Given the description of an element on the screen output the (x, y) to click on. 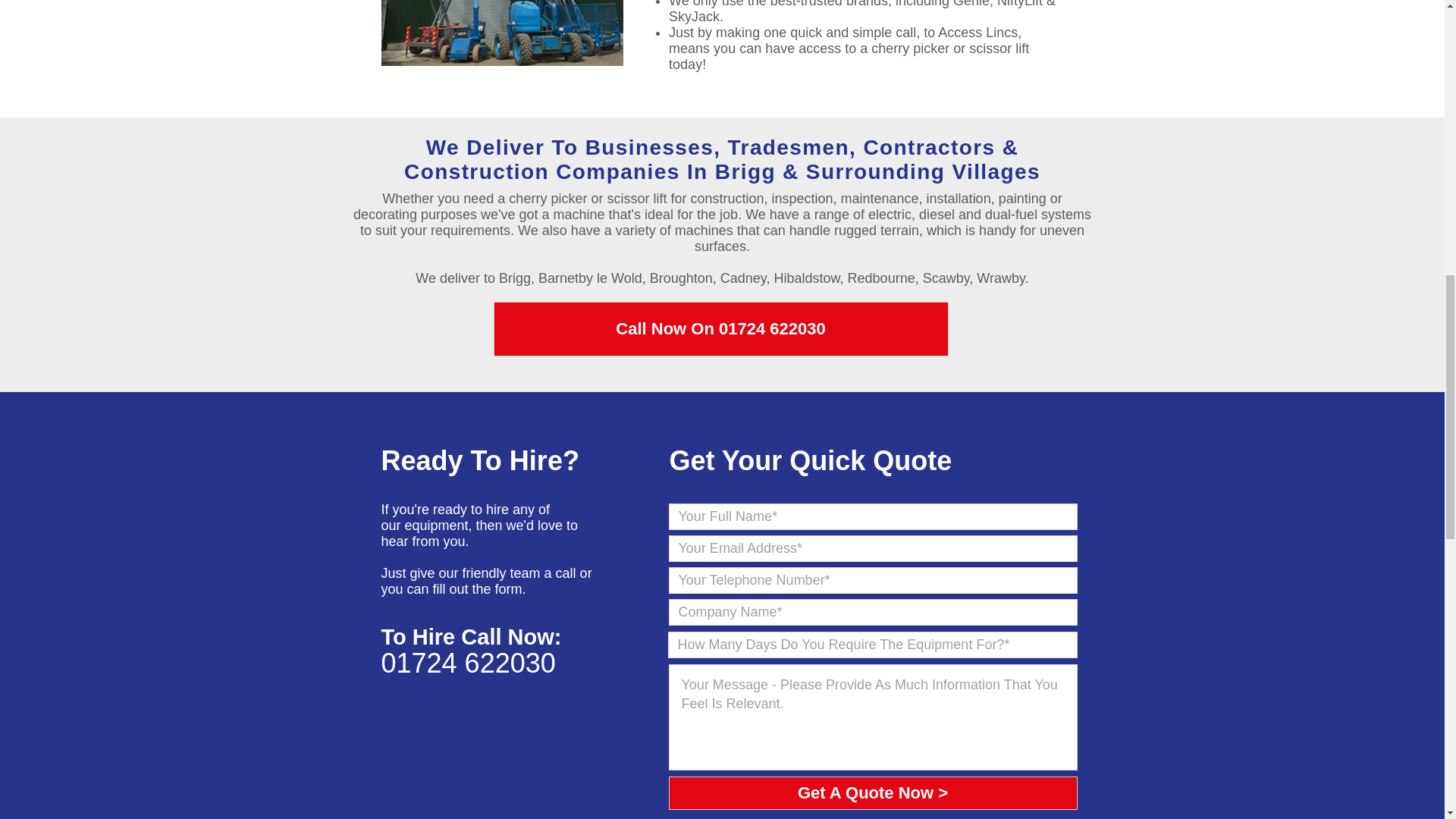
Call Now On 01724 622030 (720, 329)
01724 622030 (467, 662)
